Given the description of an element on the screen output the (x, y) to click on. 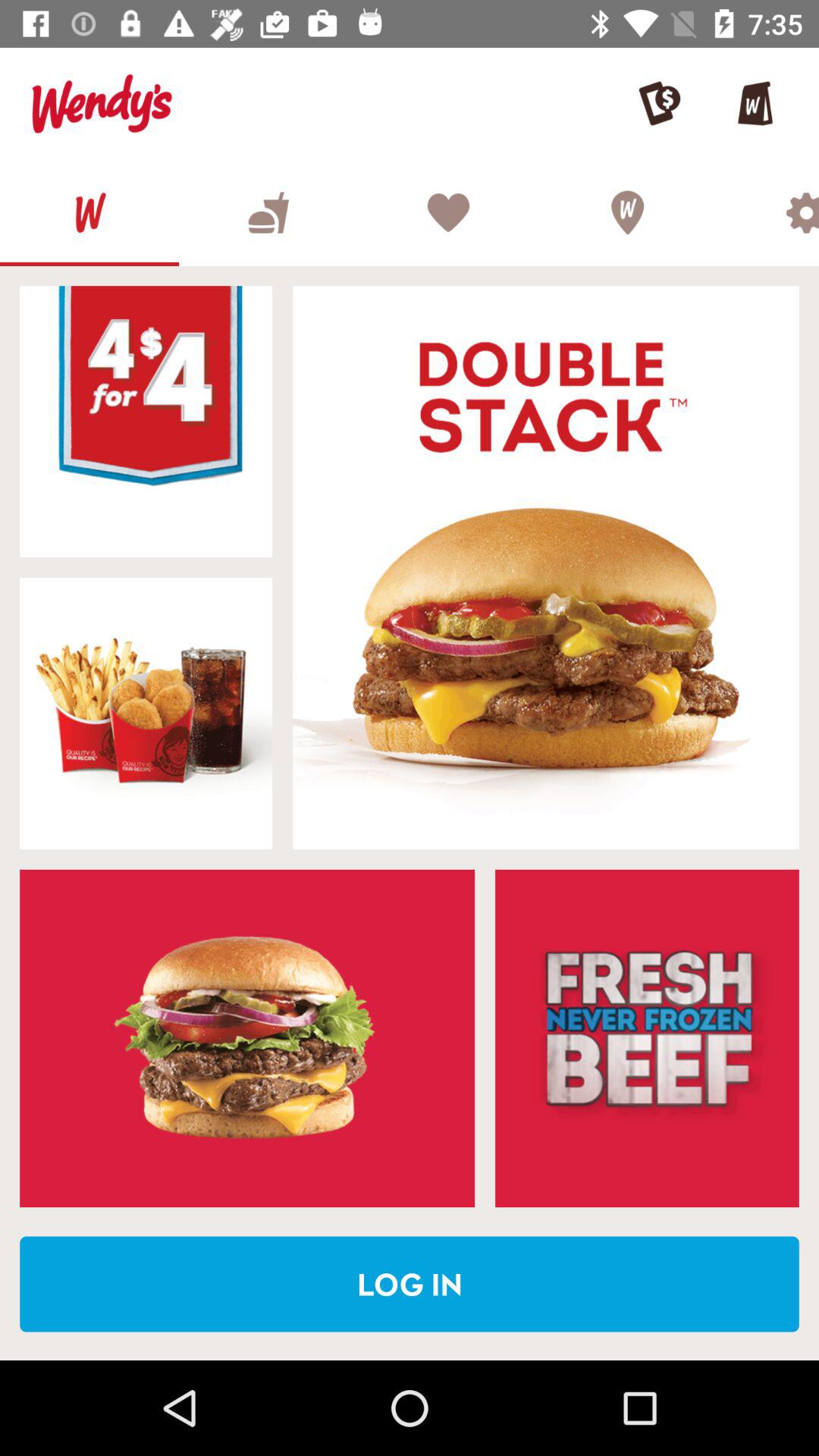
wendys front page (89, 212)
